Given the description of an element on the screen output the (x, y) to click on. 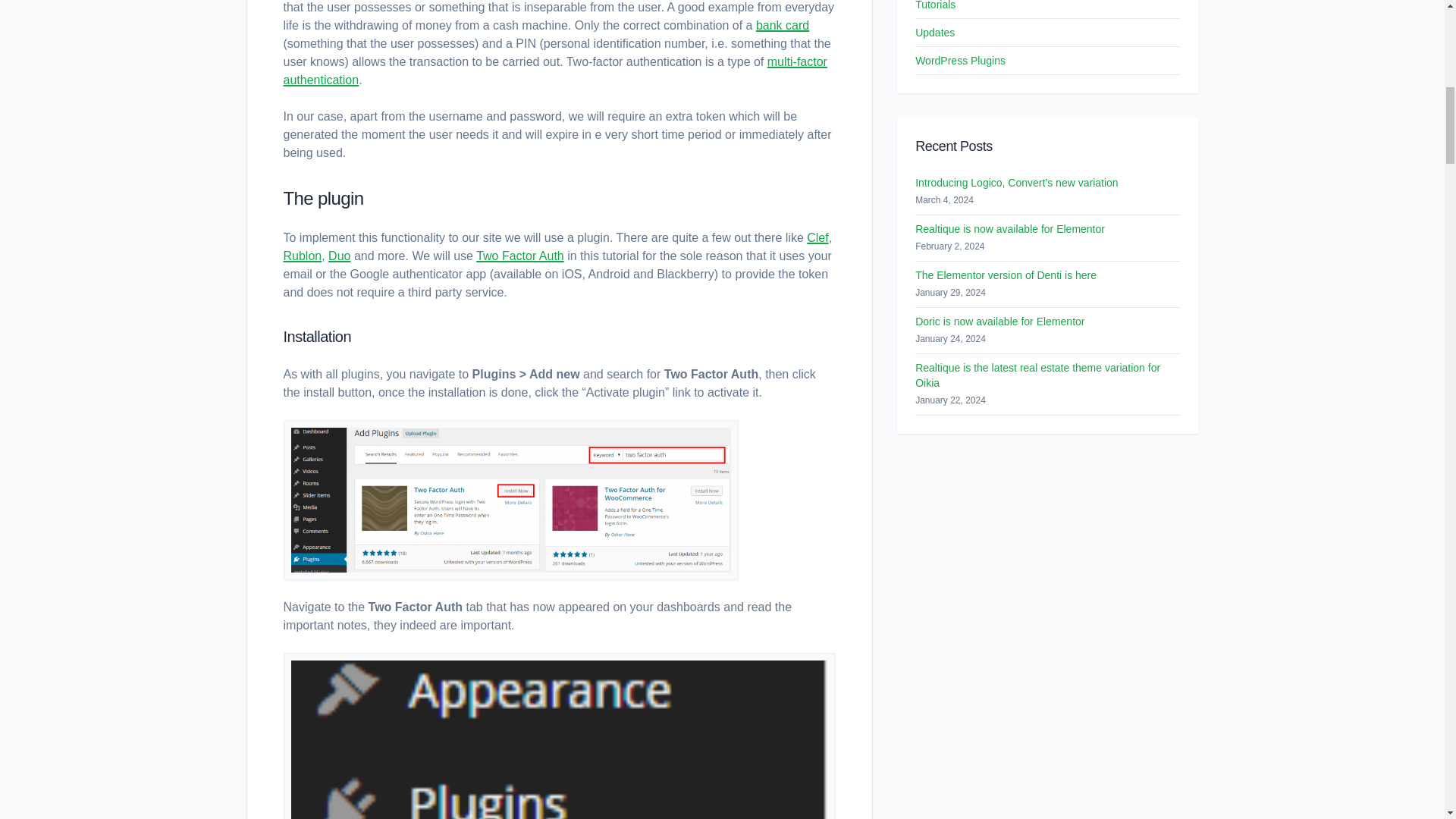
multi-factor authentication (555, 70)
Clef (817, 237)
Two Factor Auth (520, 255)
Clef (817, 237)
Duo (339, 255)
Bank card (782, 24)
Multi-factor authentication (555, 70)
Duo (339, 255)
Rublon (302, 255)
Two Factor Auth (520, 255)
Rublon (302, 255)
bank card (782, 24)
